Given the description of an element on the screen output the (x, y) to click on. 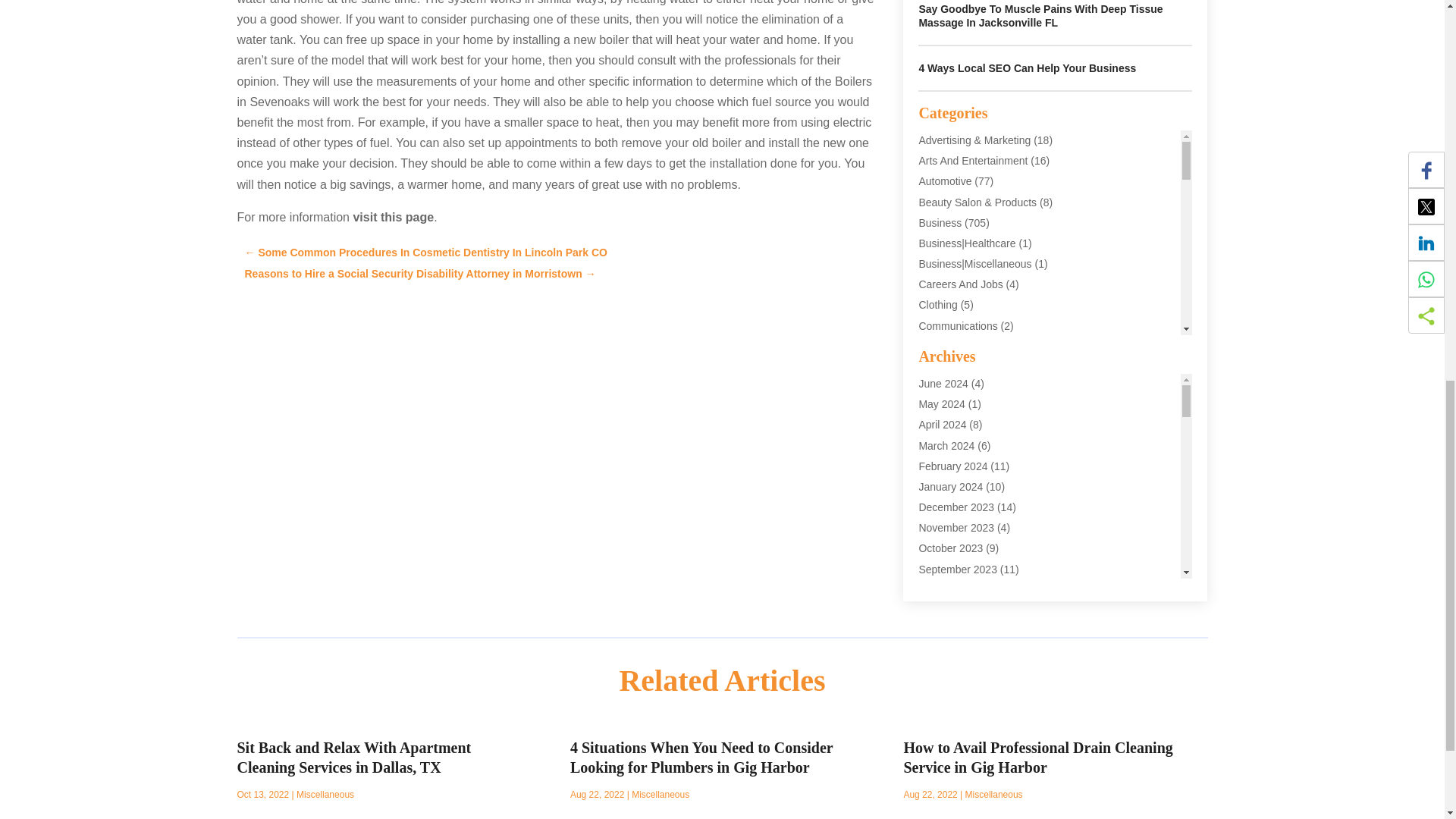
Education (941, 428)
4 Ways Local SEO Can Help Your Business (1026, 68)
Automotive (944, 181)
Construction And Maintenance (990, 387)
Community (945, 346)
Business (939, 223)
Dental (933, 408)
Communications (957, 326)
Computer And Internet (971, 367)
Arts And Entertainment (972, 160)
Clothing (937, 304)
Careers And Jobs (960, 284)
